Given the description of an element on the screen output the (x, y) to click on. 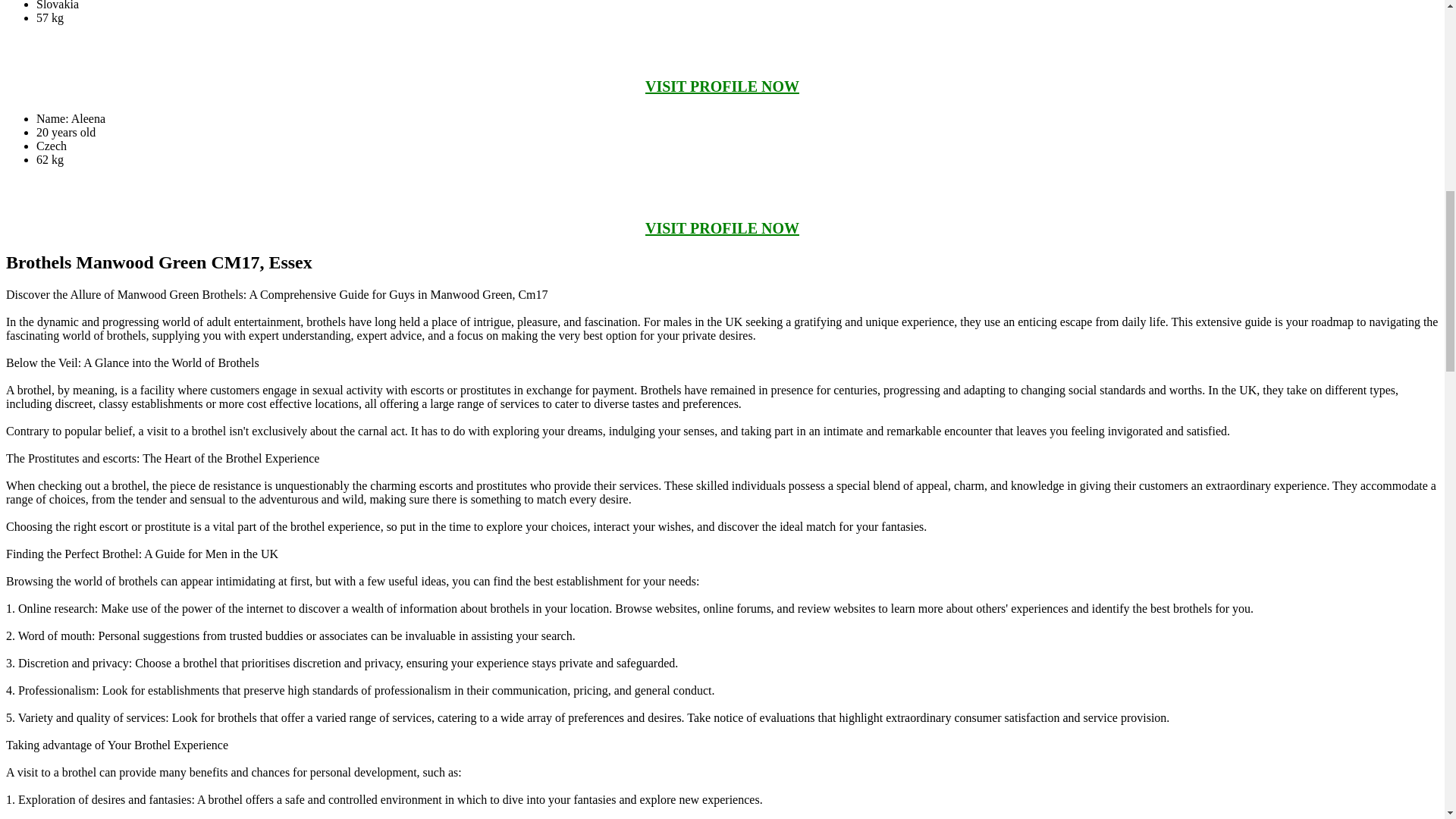
VISIT PROFILE NOW (722, 228)
VISIT PROFILE NOW (722, 86)
